Given the description of an element on the screen output the (x, y) to click on. 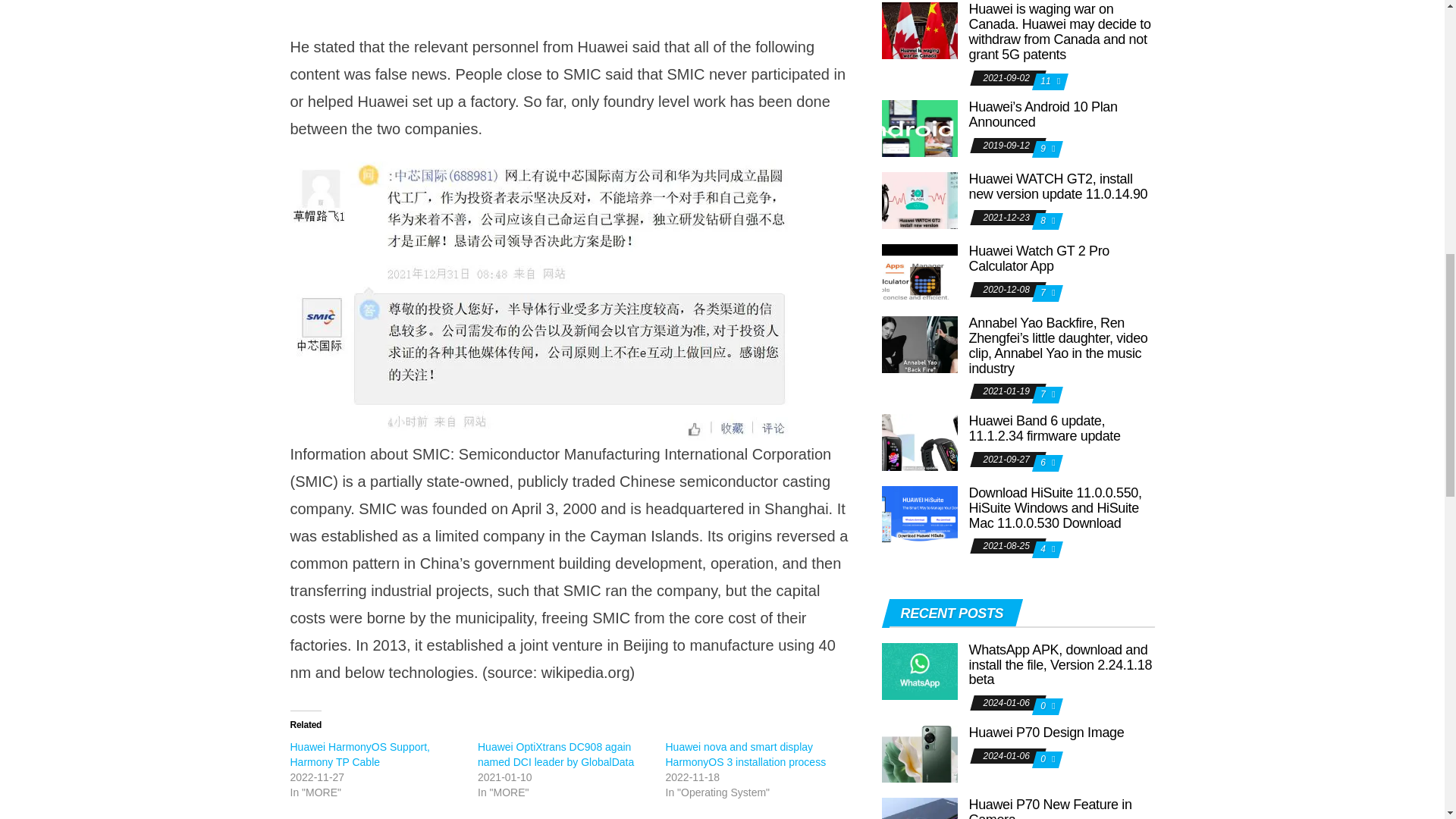
Huawei HarmonyOS Support, Harmony TP Cable (359, 754)
Huawei OptiXtrans DC908 again named DCI leader by GlobalData (555, 754)
